Given the description of an element on the screen output the (x, y) to click on. 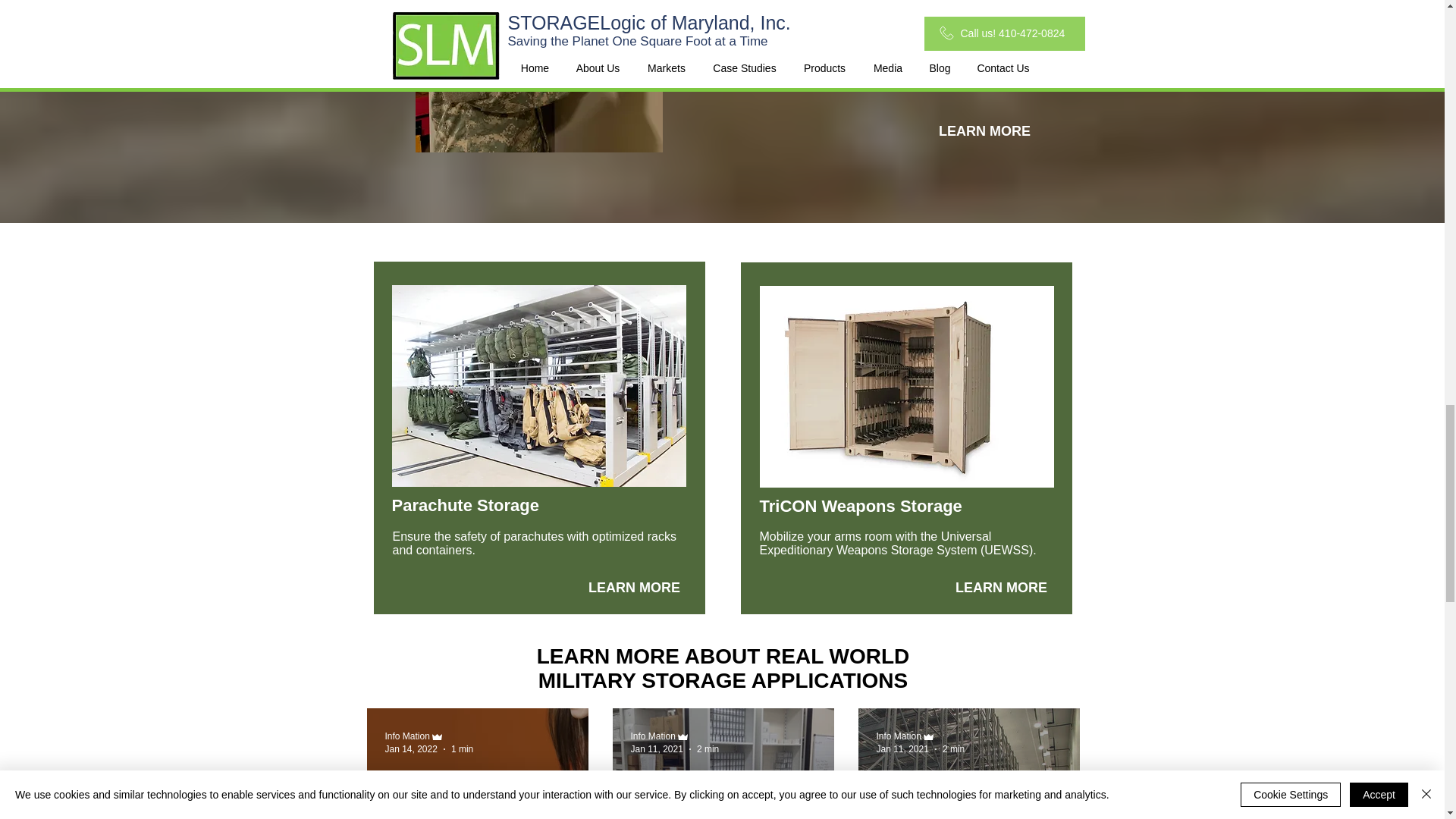
2 min (708, 747)
Pararigger and Parachute Storage (538, 385)
Jan 14, 2022 (411, 747)
Jan 11, 2021 (902, 747)
1 min (462, 747)
Info Mation (652, 736)
2 min (952, 747)
Jan 11, 2021 (656, 747)
Info Mation (898, 736)
Info Mation (407, 736)
